Given the description of an element on the screen output the (x, y) to click on. 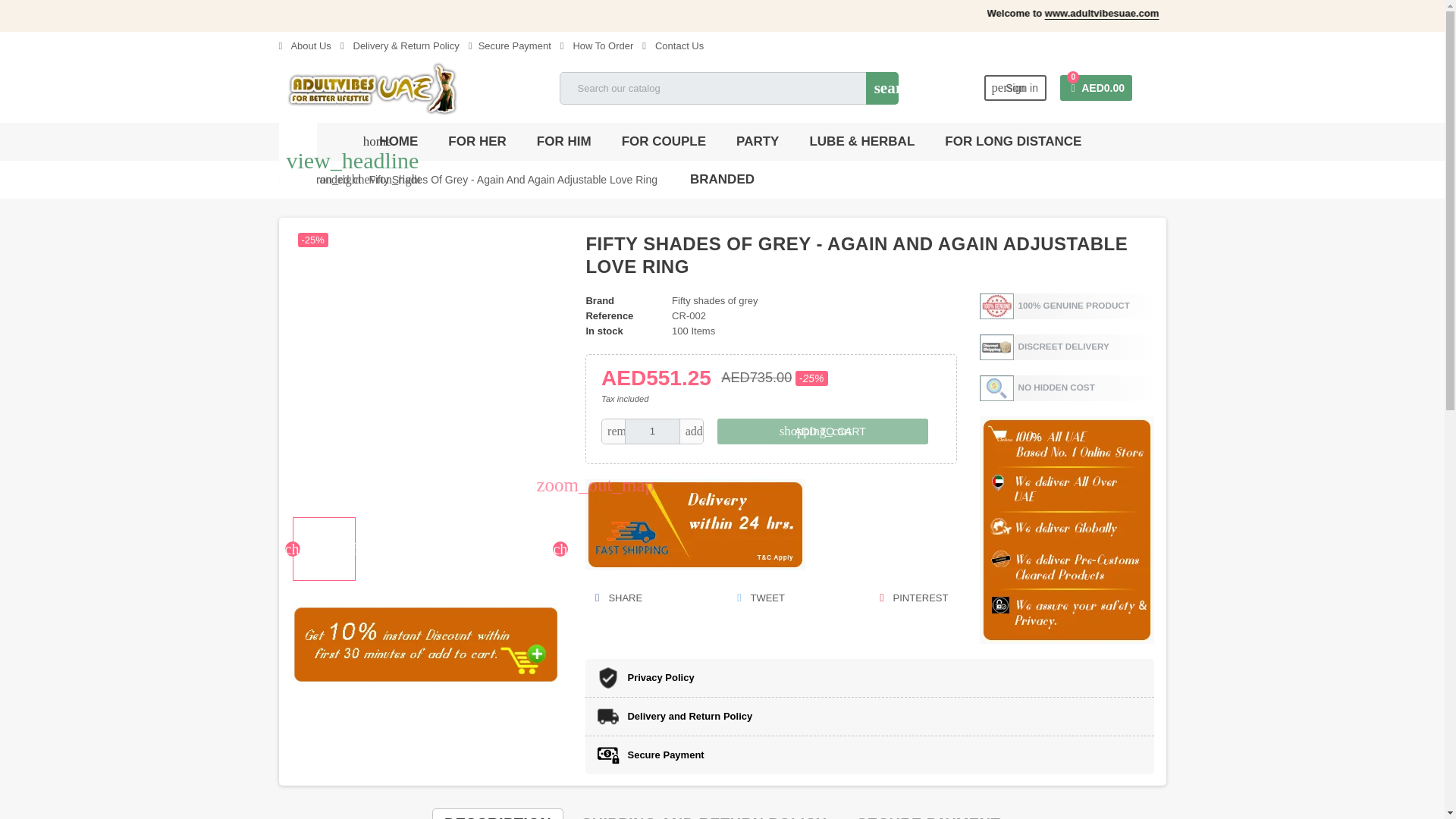
1 (651, 431)
